Given the description of an element on the screen output the (x, y) to click on. 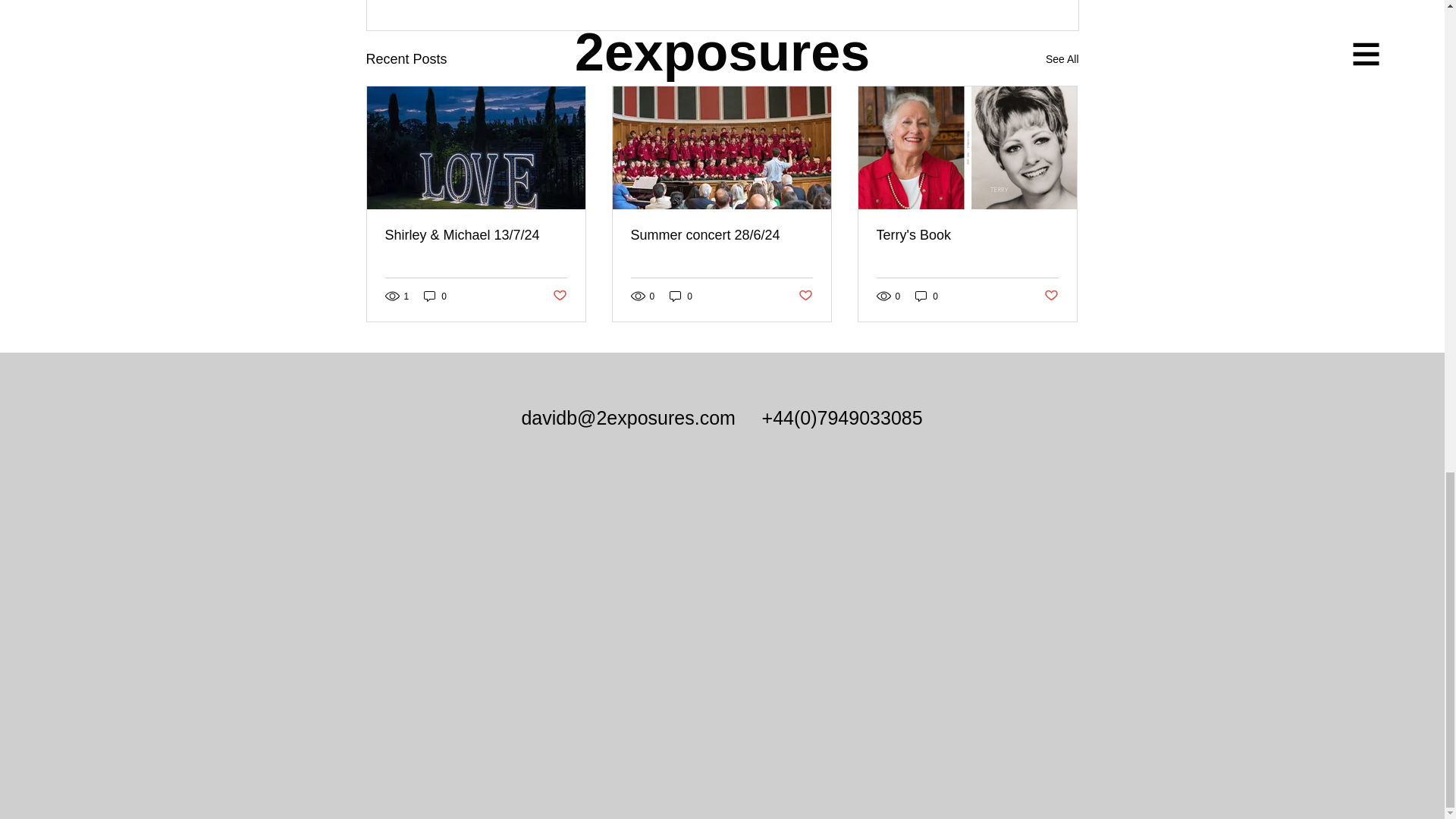
0 (926, 296)
Post not marked as liked (804, 295)
0 (435, 296)
Terry's Book (967, 235)
Post not marked as liked (1050, 295)
See All (1061, 59)
0 (681, 296)
Post not marked as liked (558, 295)
